Given the description of an element on the screen output the (x, y) to click on. 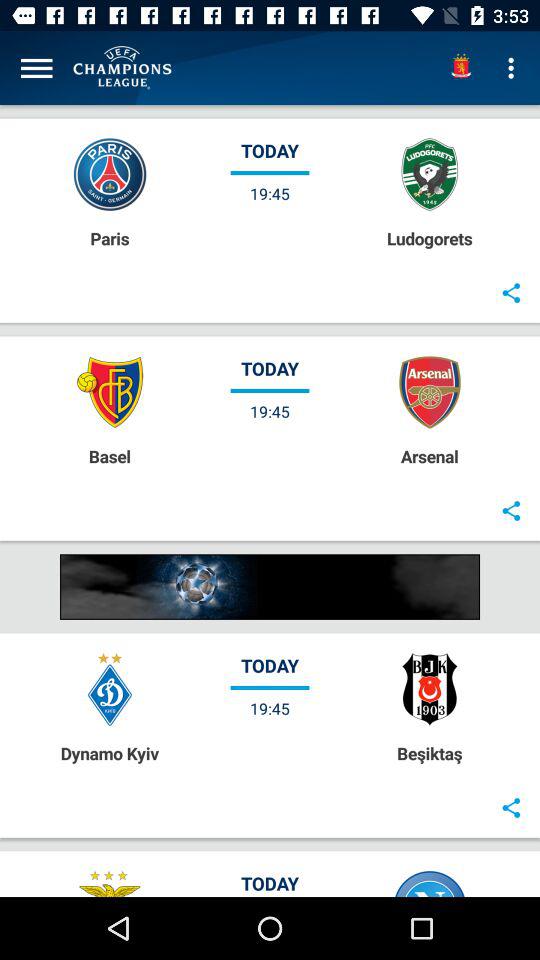
open menu bar (36, 68)
